Given the description of an element on the screen output the (x, y) to click on. 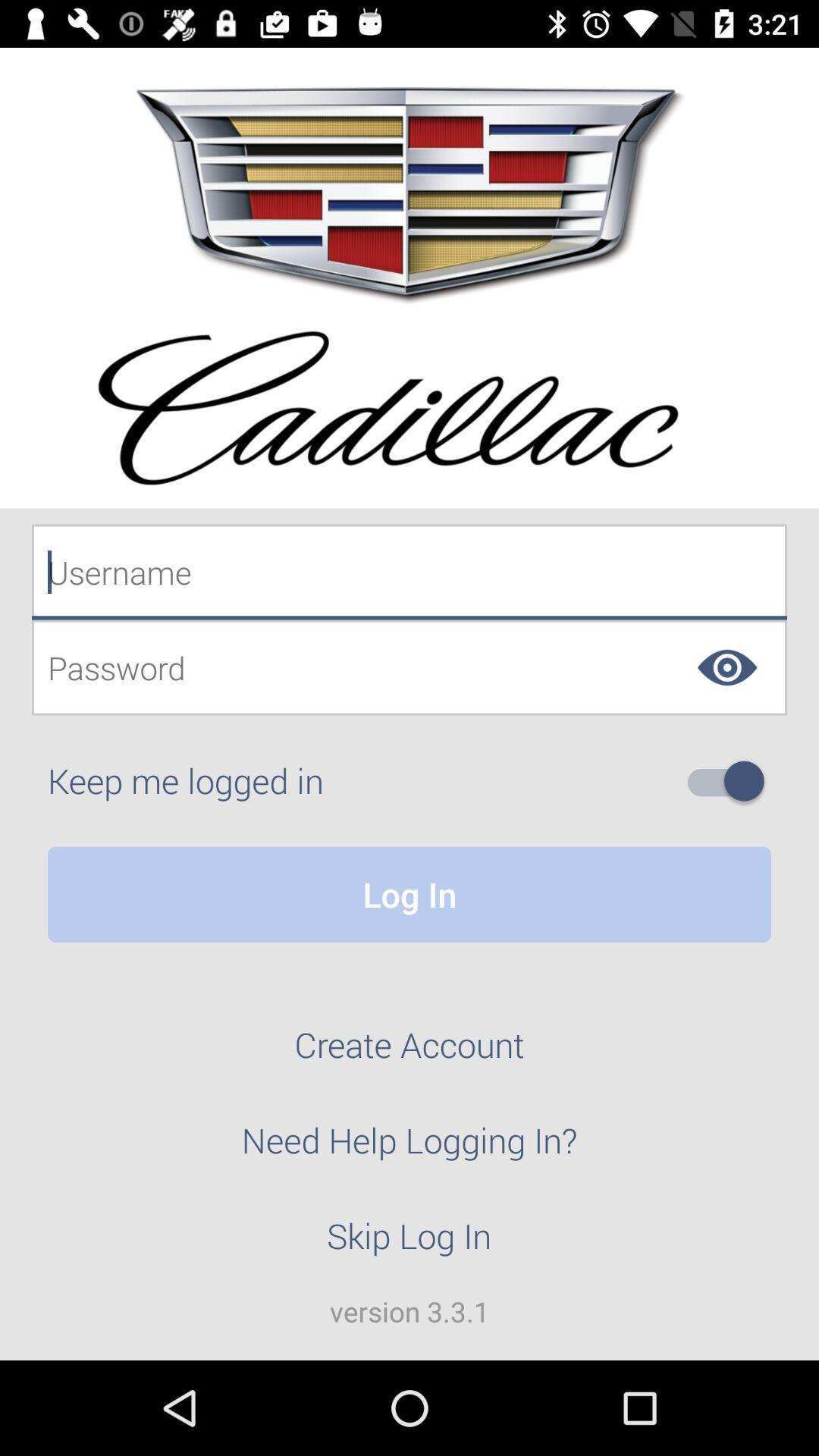
choose create account icon (409, 1053)
